Given the description of an element on the screen output the (x, y) to click on. 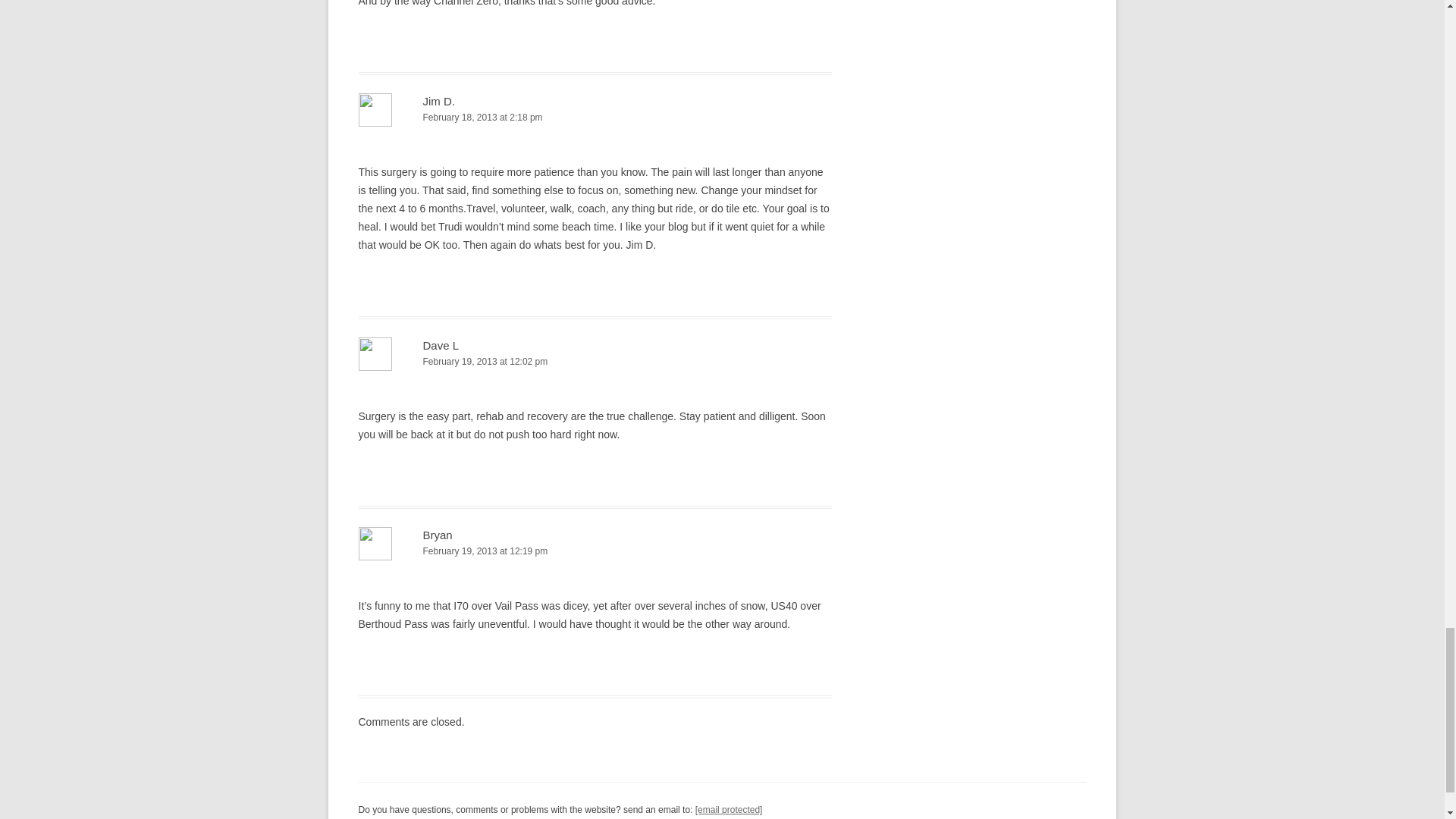
February 18, 2013 at 2:18 pm (594, 117)
February 19, 2013 at 12:02 pm (594, 361)
February 19, 2013 at 12:19 pm (594, 551)
